Given the description of an element on the screen output the (x, y) to click on. 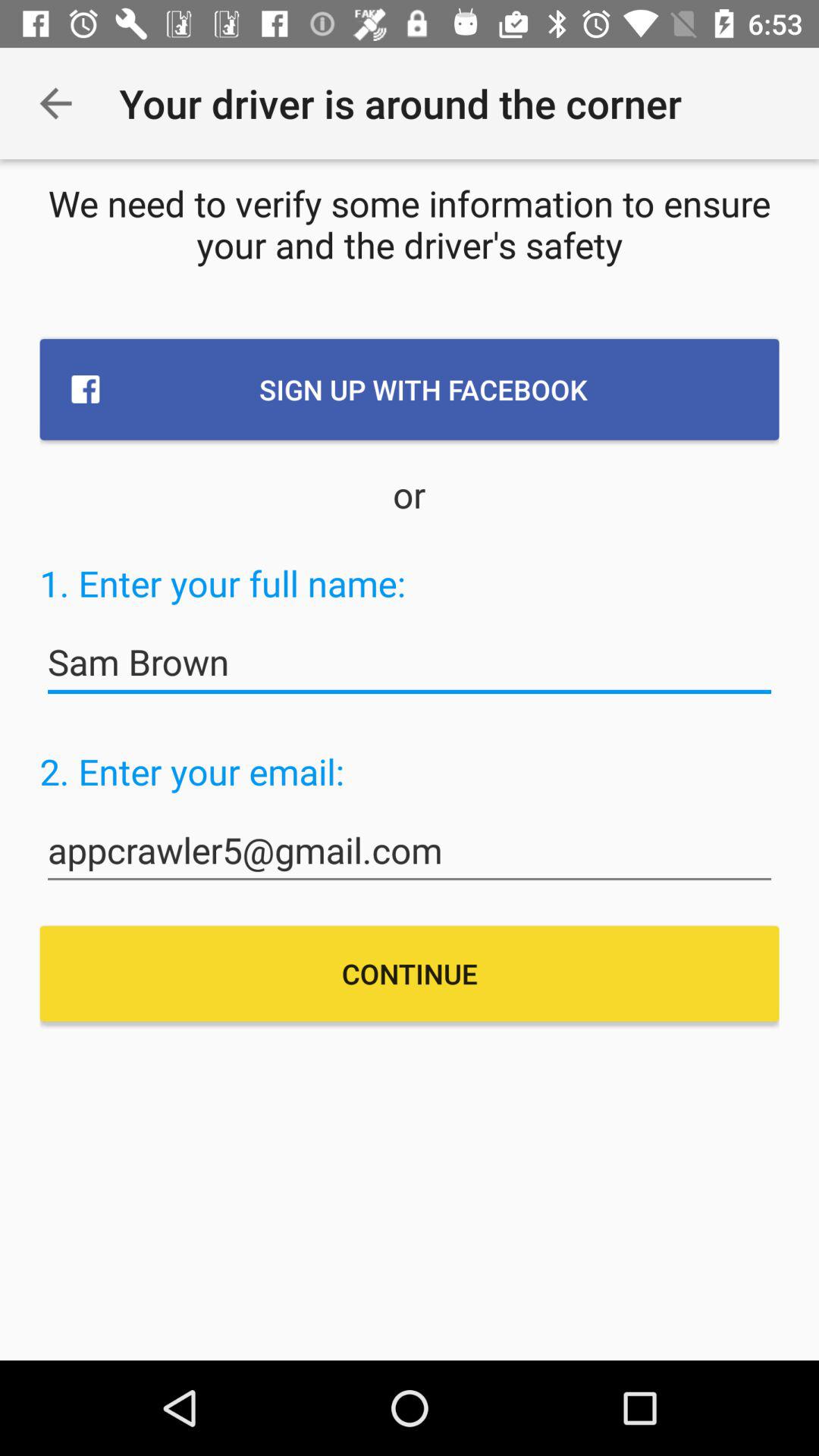
open the item next to your driver is (55, 103)
